Given the description of an element on the screen output the (x, y) to click on. 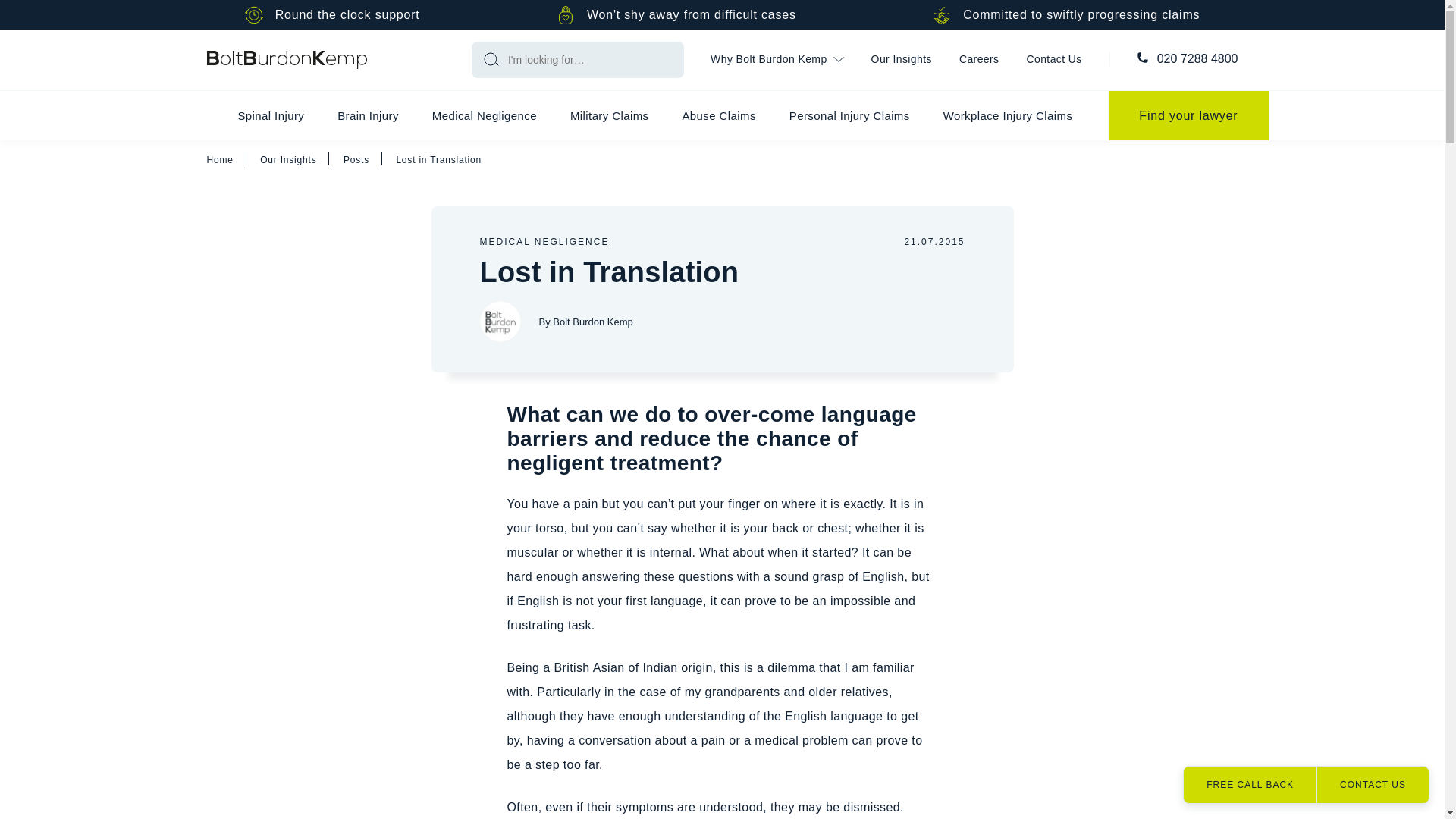
020 7288 4800 (1198, 59)
Why Bolt Burdon Kemp (777, 60)
CONTACT US (1372, 784)
Brain Injury (367, 115)
Bolt Burdon Kemp (499, 322)
Home (286, 58)
Spinal Injury (270, 115)
FREE CALL BACK (1249, 784)
Careers (978, 60)
Contact Us (1053, 60)
Our Insights (900, 60)
